Given the description of an element on the screen output the (x, y) to click on. 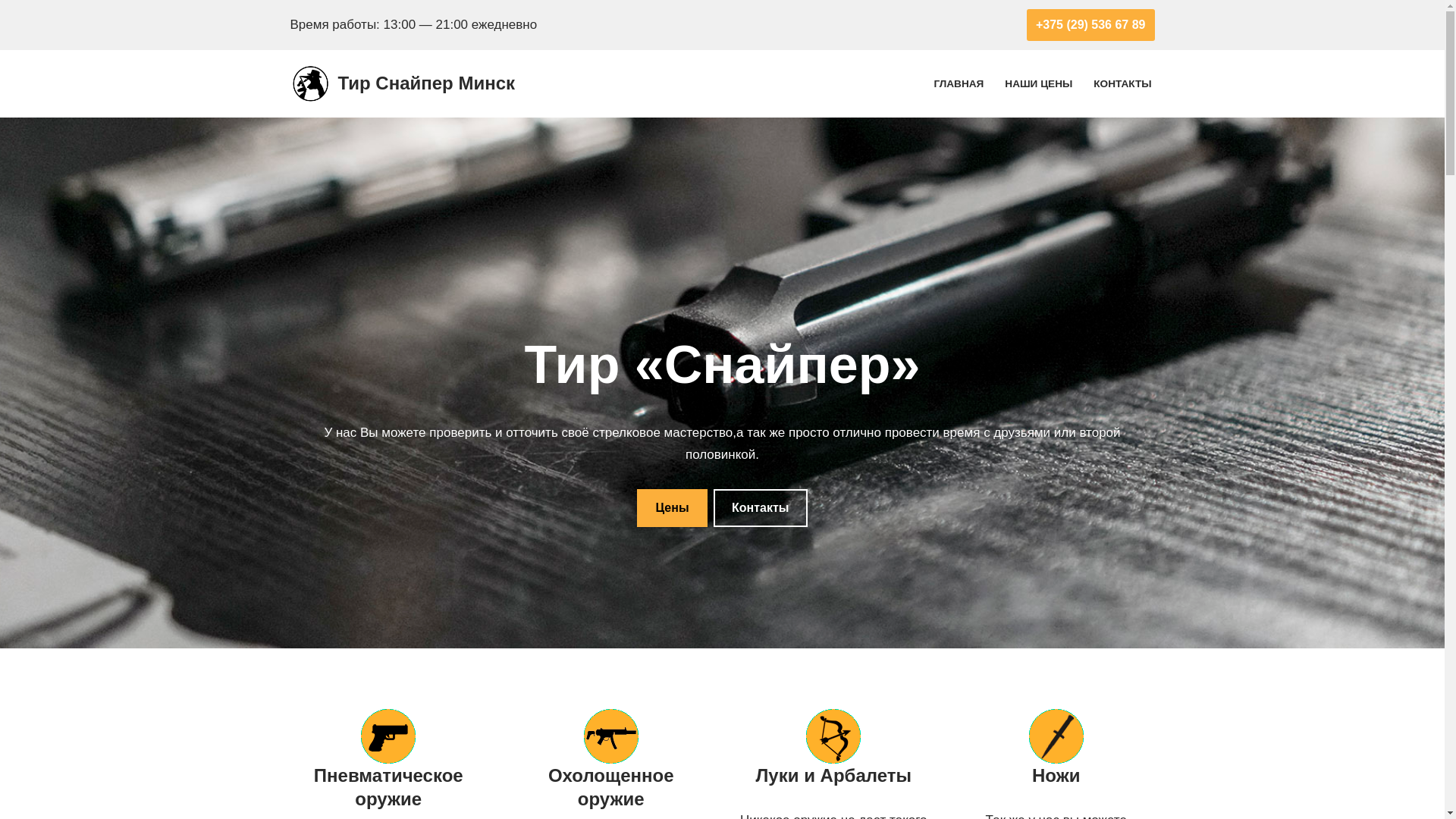
+375 (29) 536 67 89 Element type: text (1090, 24)
